Given the description of an element on the screen output the (x, y) to click on. 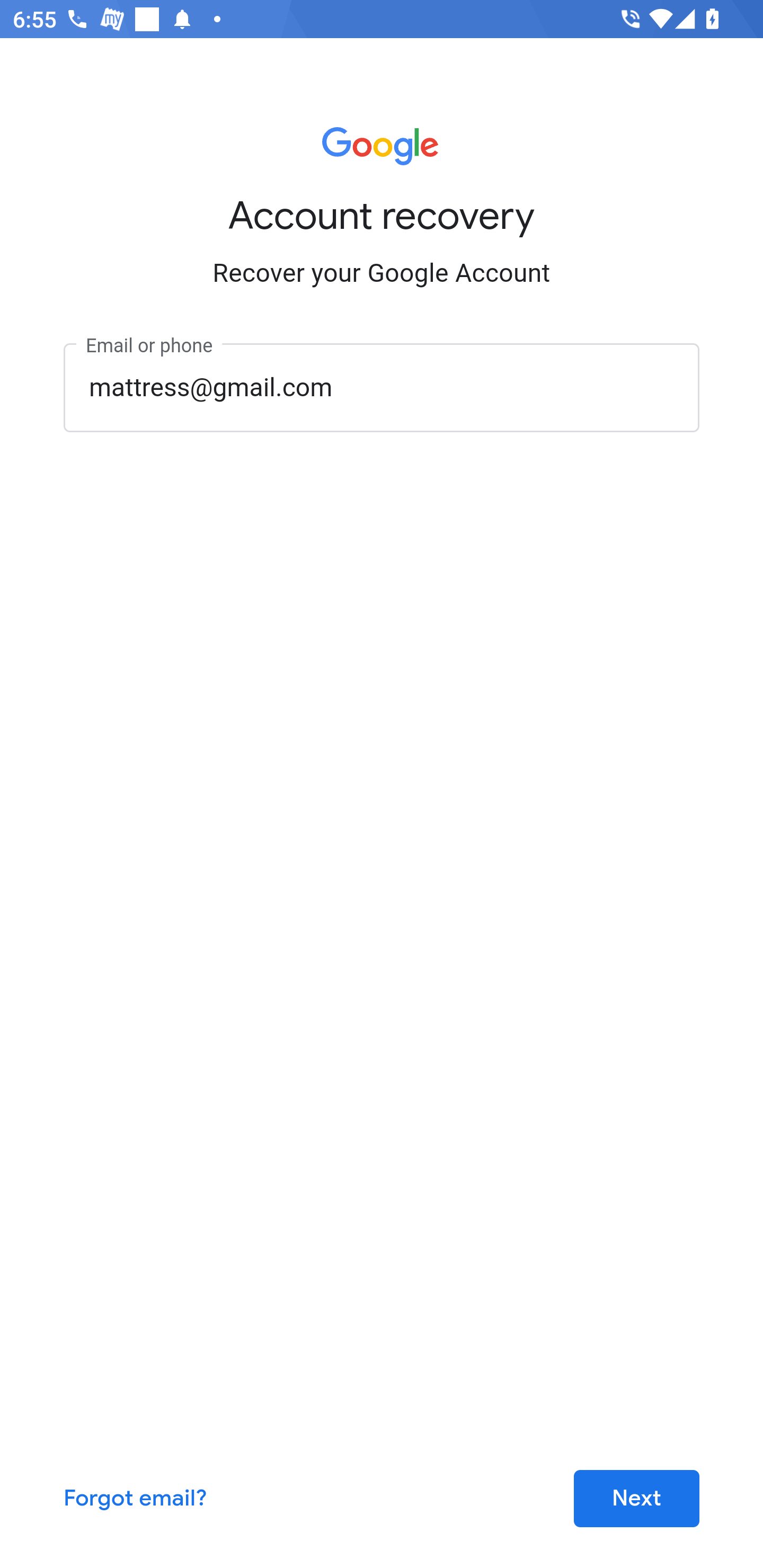
mattress@gmail.com (381, 387)
Forgot email? (136, 1498)
Next (635, 1498)
